Given the description of an element on the screen output the (x, y) to click on. 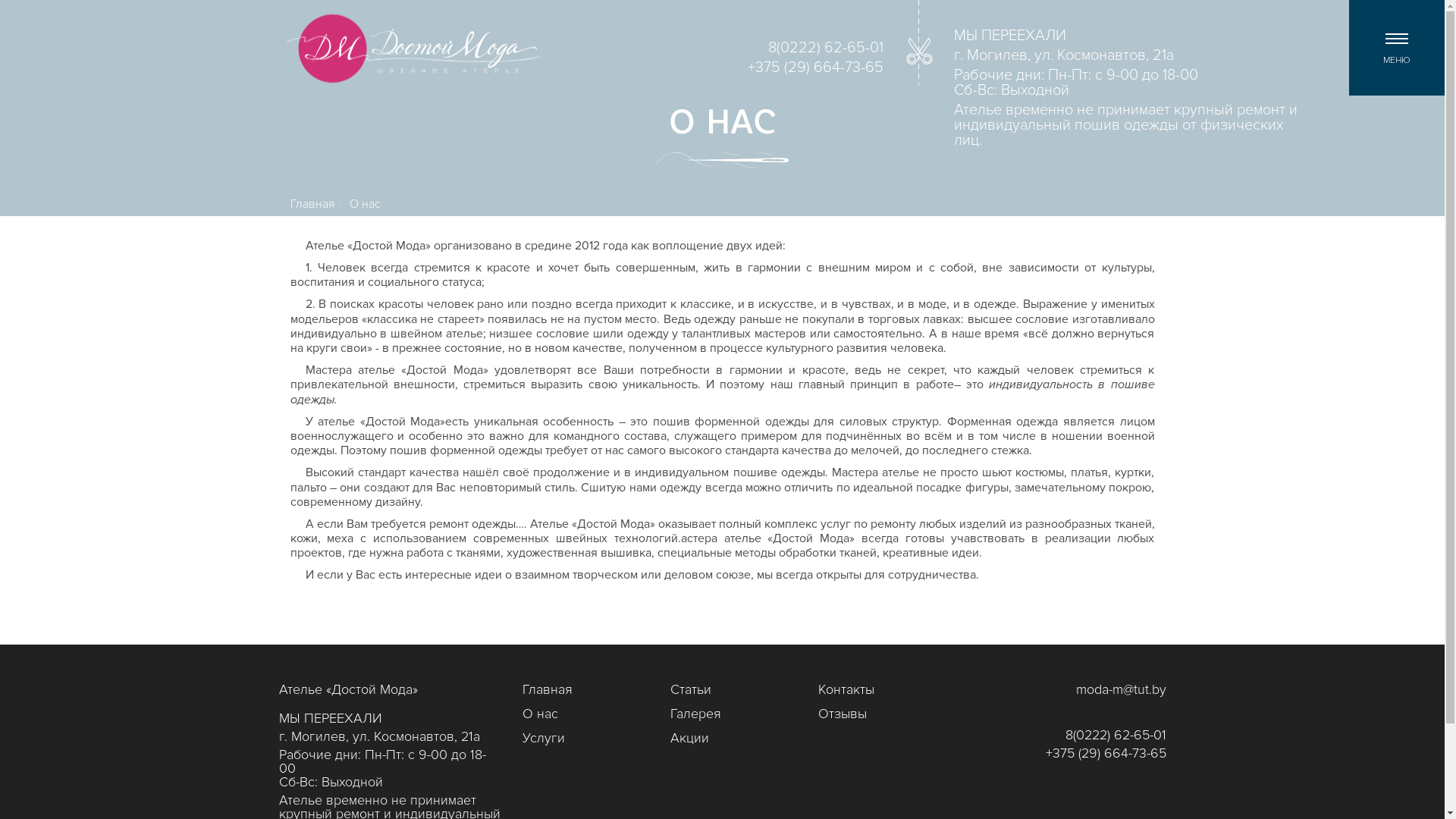
+375 (29) 664-73-65 Element type: text (1104, 754)
moda-m@tut.by Element type: text (1120, 690)
+375 (29) 664-73-65 Element type: text (815, 68)
8(0222) 62-65-01 Element type: text (825, 48)
8(0222) 62-65-01 Element type: text (1114, 735)
